Given the description of an element on the screen output the (x, y) to click on. 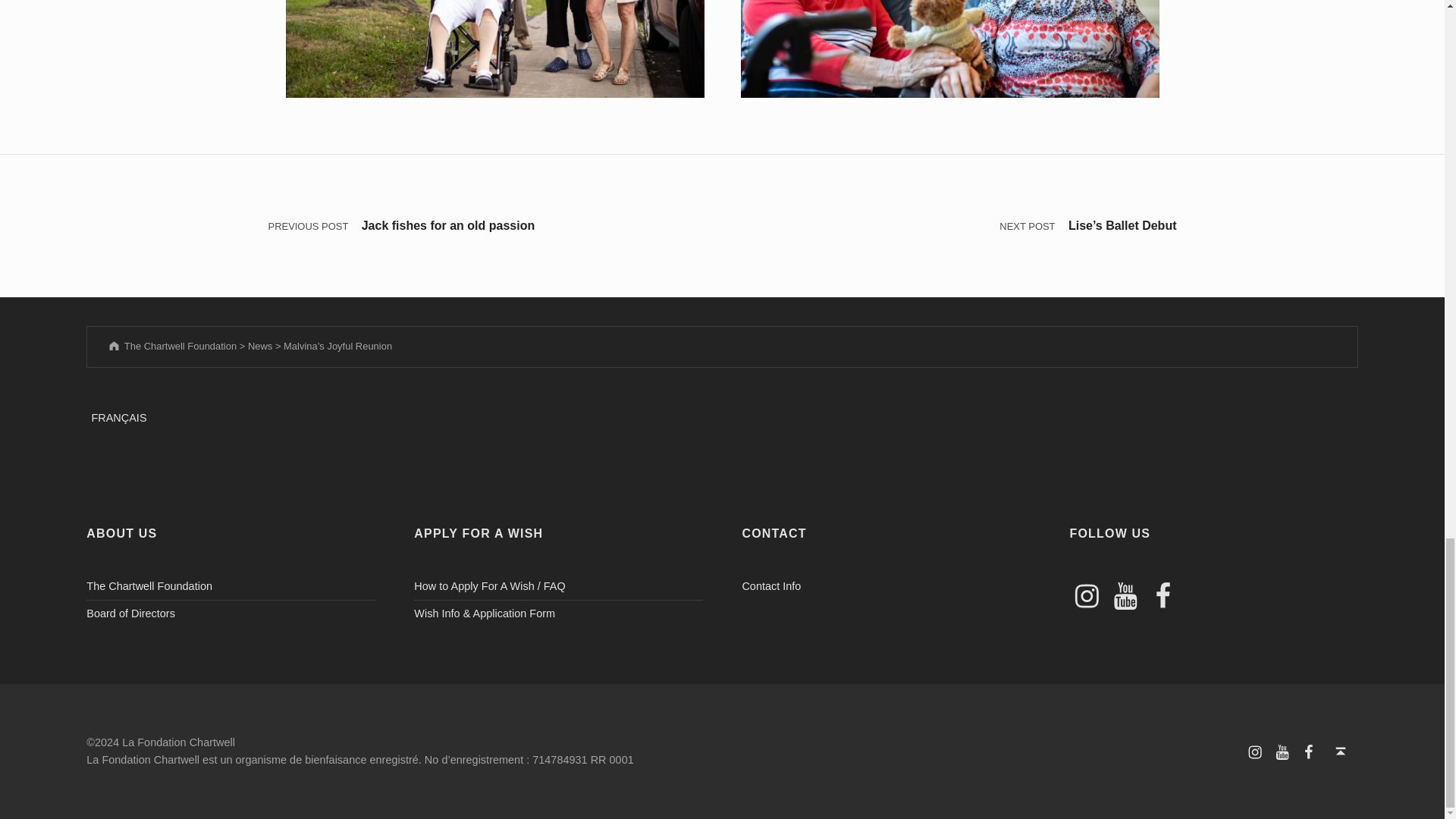
Malvina family's walk (494, 48)
Go to the News Category archives. (259, 346)
The Chartwell Foundation (148, 585)
News (259, 346)
Back to top (1340, 751)
Malivina and Lise (948, 48)
PREVIOUS POST Jack fishes for an old passion (494, 225)
Go to The Chartwell Foundation. (170, 346)
Contact Info (770, 585)
Board of Directors (129, 613)
